Given the description of an element on the screen output the (x, y) to click on. 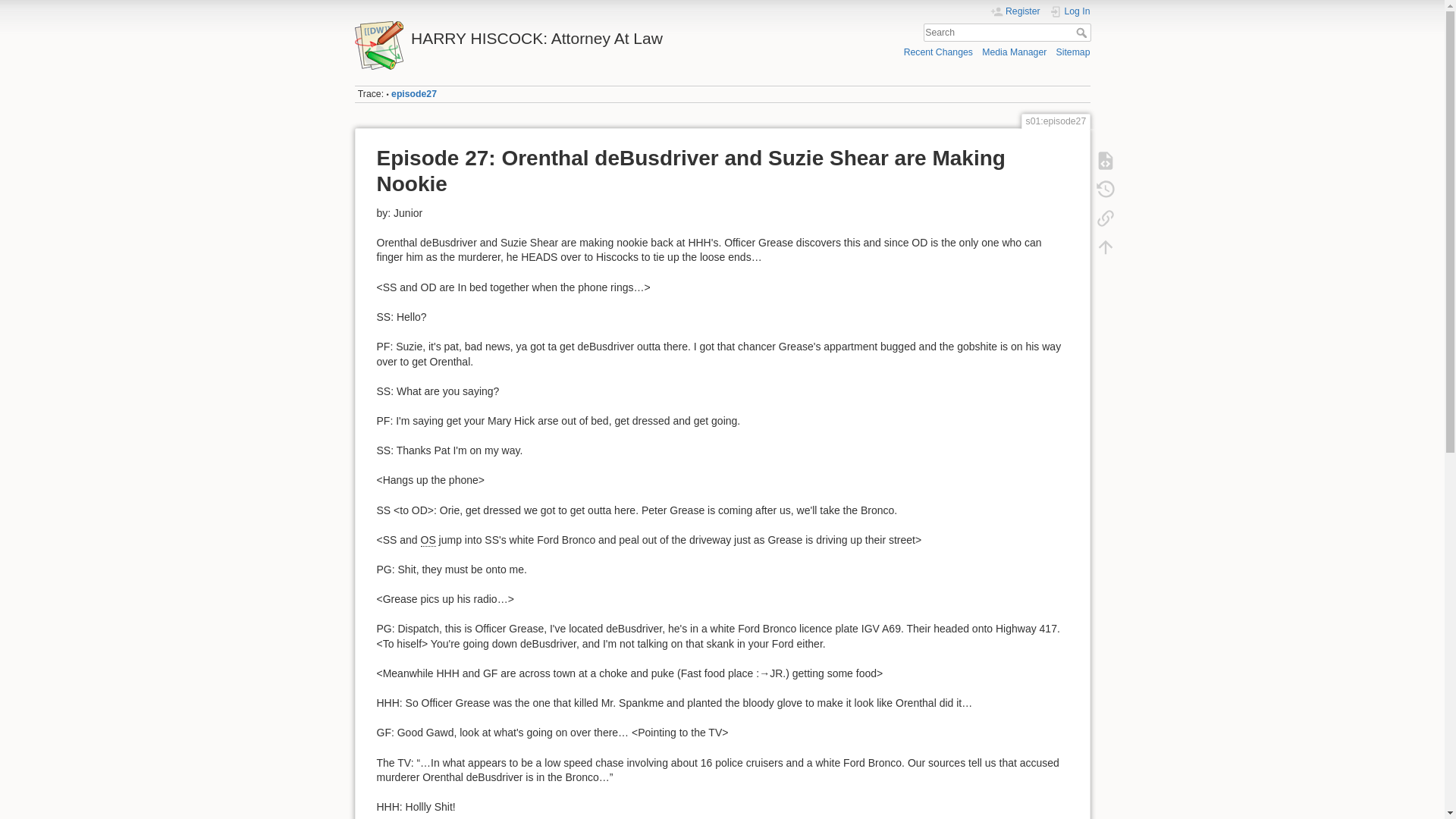
Media Manager (1013, 51)
s01:episode27 (413, 93)
Media Manager (1013, 51)
Register (1014, 11)
Sitemap (1073, 51)
Search (1082, 32)
Recent Changes (938, 51)
Log In (1069, 11)
Log In (1069, 11)
episode27 (413, 93)
